Given the description of an element on the screen output the (x, y) to click on. 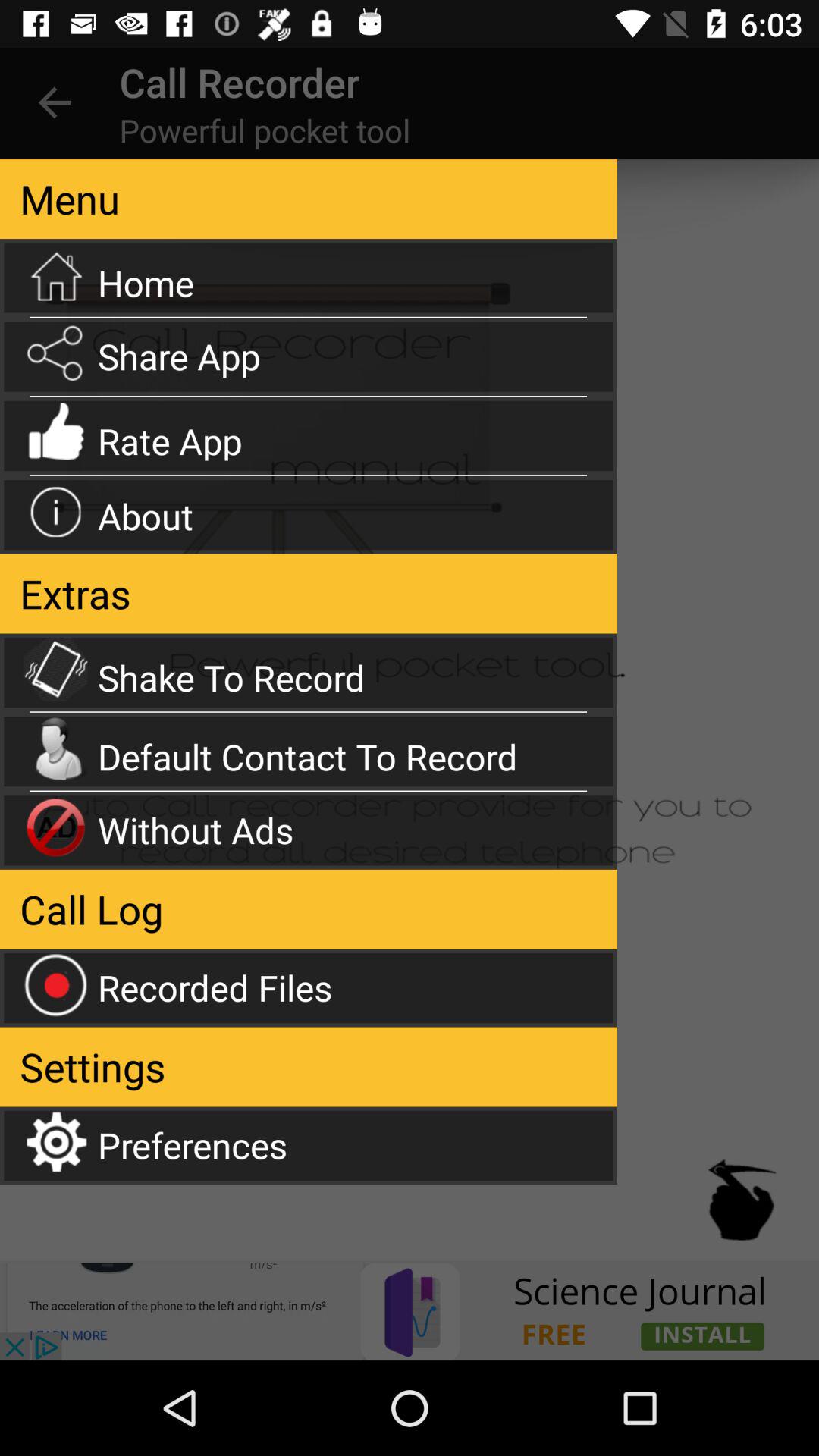
turn off the item next to the call recorder app (55, 103)
